Given the description of an element on the screen output the (x, y) to click on. 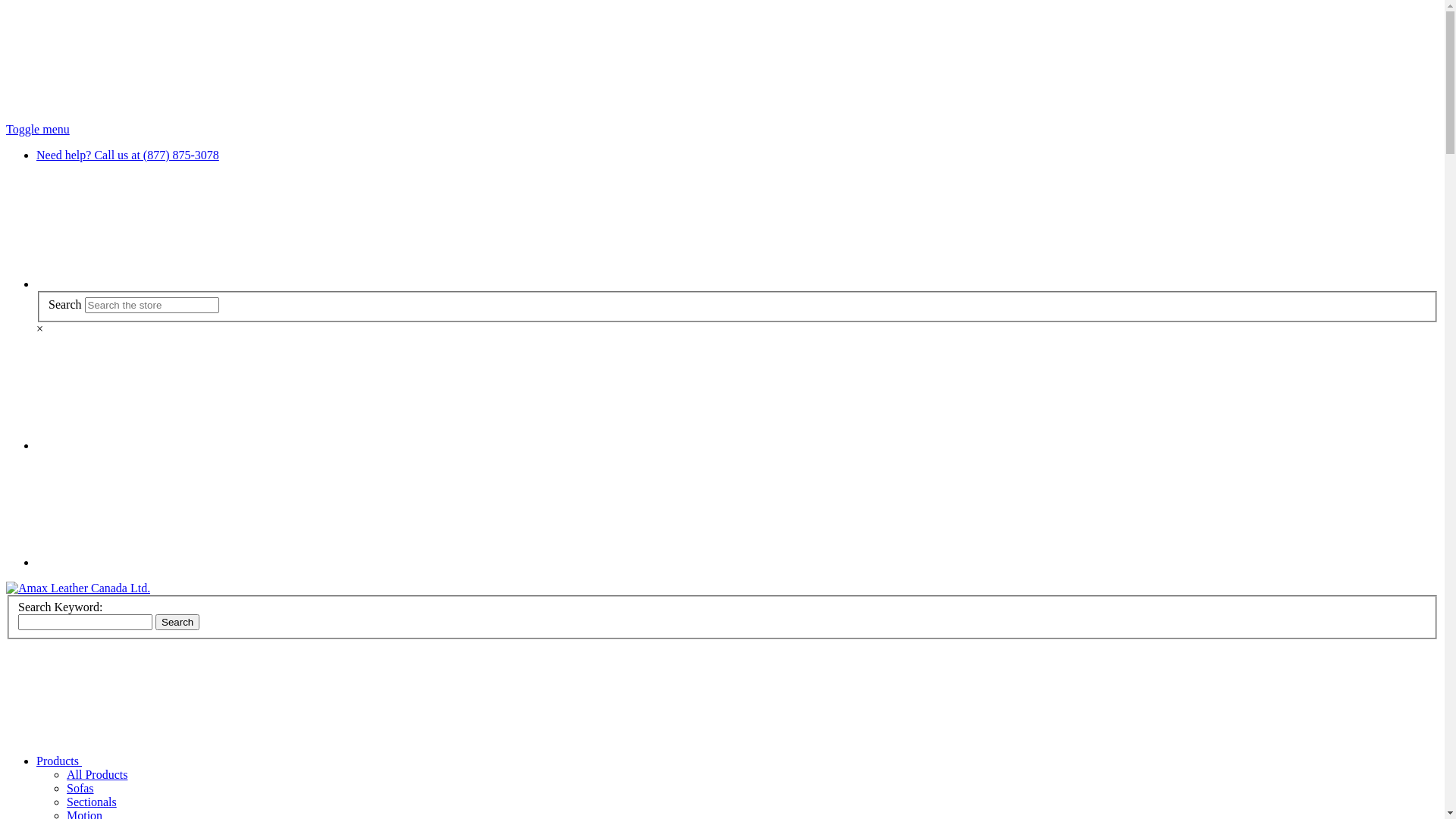
Toggle menu Element type: text (37, 128)
Amax Leather Canada Ltd. Element type: hover (78, 588)
Need help? Call us at (877) 875-3078 Element type: text (127, 154)
All Products Element type: text (96, 774)
Sectionals Element type: text (91, 801)
Sofas Element type: text (80, 787)
Products Element type: text (172, 760)
Search Element type: text (177, 622)
